Given the description of an element on the screen output the (x, y) to click on. 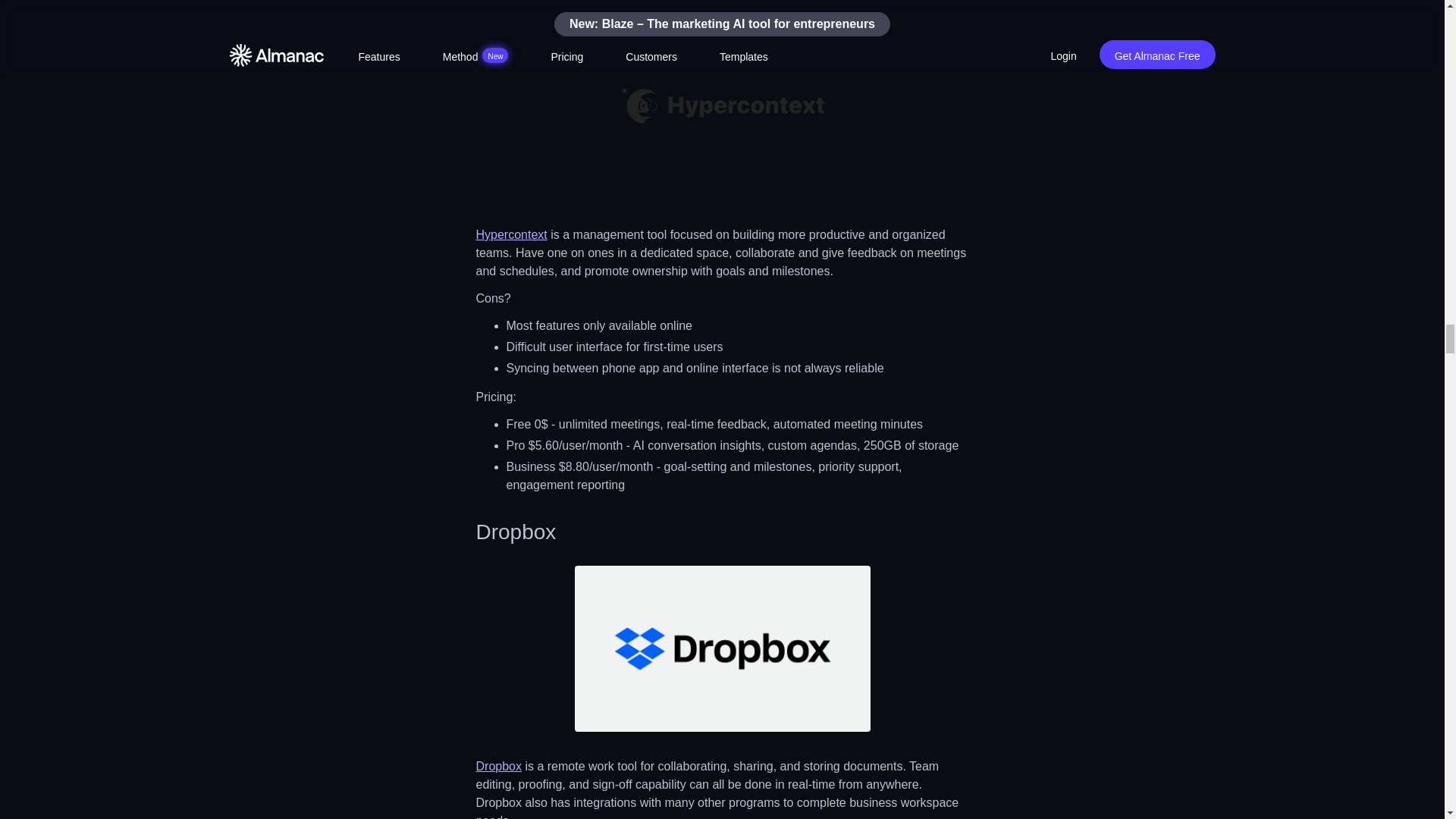
Dropbox (498, 766)
Hypercontext (511, 234)
